Given the description of an element on the screen output the (x, y) to click on. 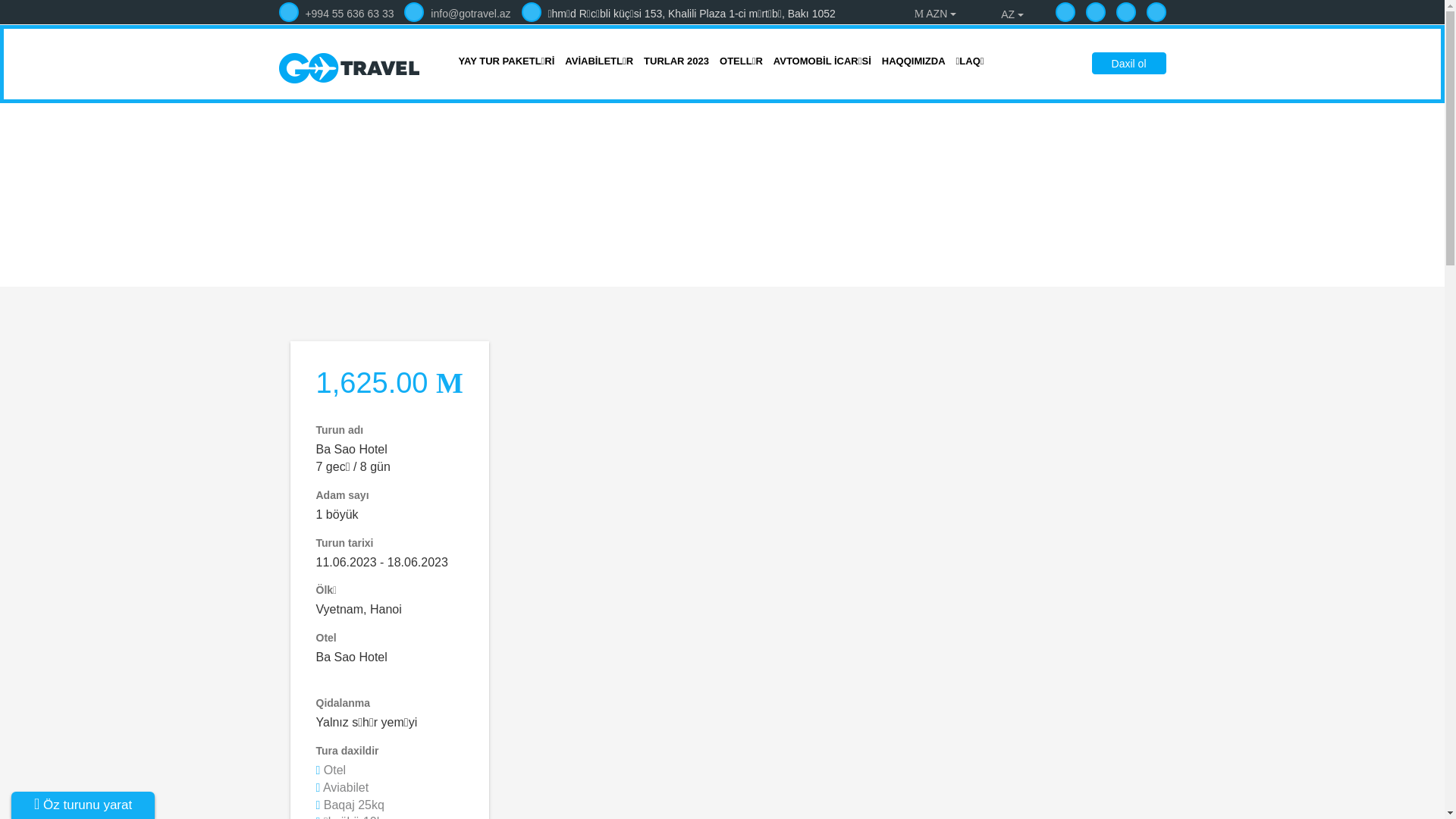
M AZN Element type: text (935, 13)
TURLAR 2023 Element type: text (676, 63)
AZ Element type: text (1004, 14)
 +994 55 636 63 33 Element type: text (336, 12)
 info@gotravel.az Element type: text (457, 12)
HAQQIMIZDA Element type: text (913, 63)
Turlar 2023 Element type: text (713, 229)
Daxil ol Element type: text (1129, 63)
